Given the description of an element on the screen output the (x, y) to click on. 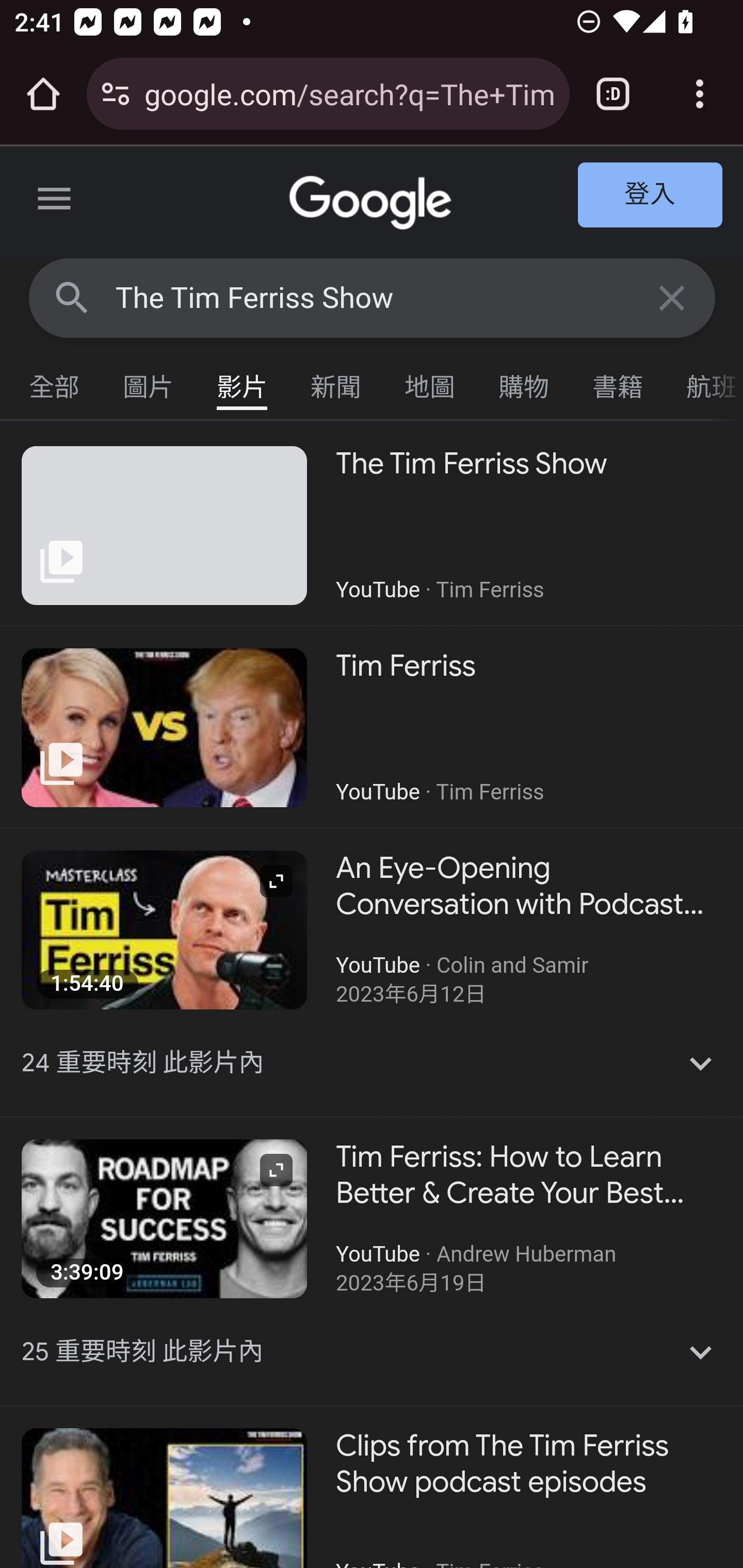
Open the home page (43, 93)
Connection is secure (115, 93)
Switch or close tabs (612, 93)
Customize and control Google Chrome (699, 93)
主選單 (54, 202)
Google (372, 203)
登入 (650, 195)
Google 搜尋 (71, 296)
清除搜尋內容 (672, 296)
The Tim Ferriss Show (372, 297)
全部 (54, 382)
圖片 (148, 382)
新聞 (336, 382)
地圖 (430, 382)
購物 (524, 382)
書籍 (618, 382)
航班 (703, 382)
喺YouTube發佈嘅The Tim Ferriss Show影片 (371, 524)
Tim Ferriss 喺YouTube發佈嘅Tim Ferriss影片 (371, 727)
喺YouTube發佈嘅Tim Ferriss影片 (371, 727)
24 重要時刻 此影片內 (372, 1062)
25 重要時刻 此影片內 (372, 1352)
